Given the description of an element on the screen output the (x, y) to click on. 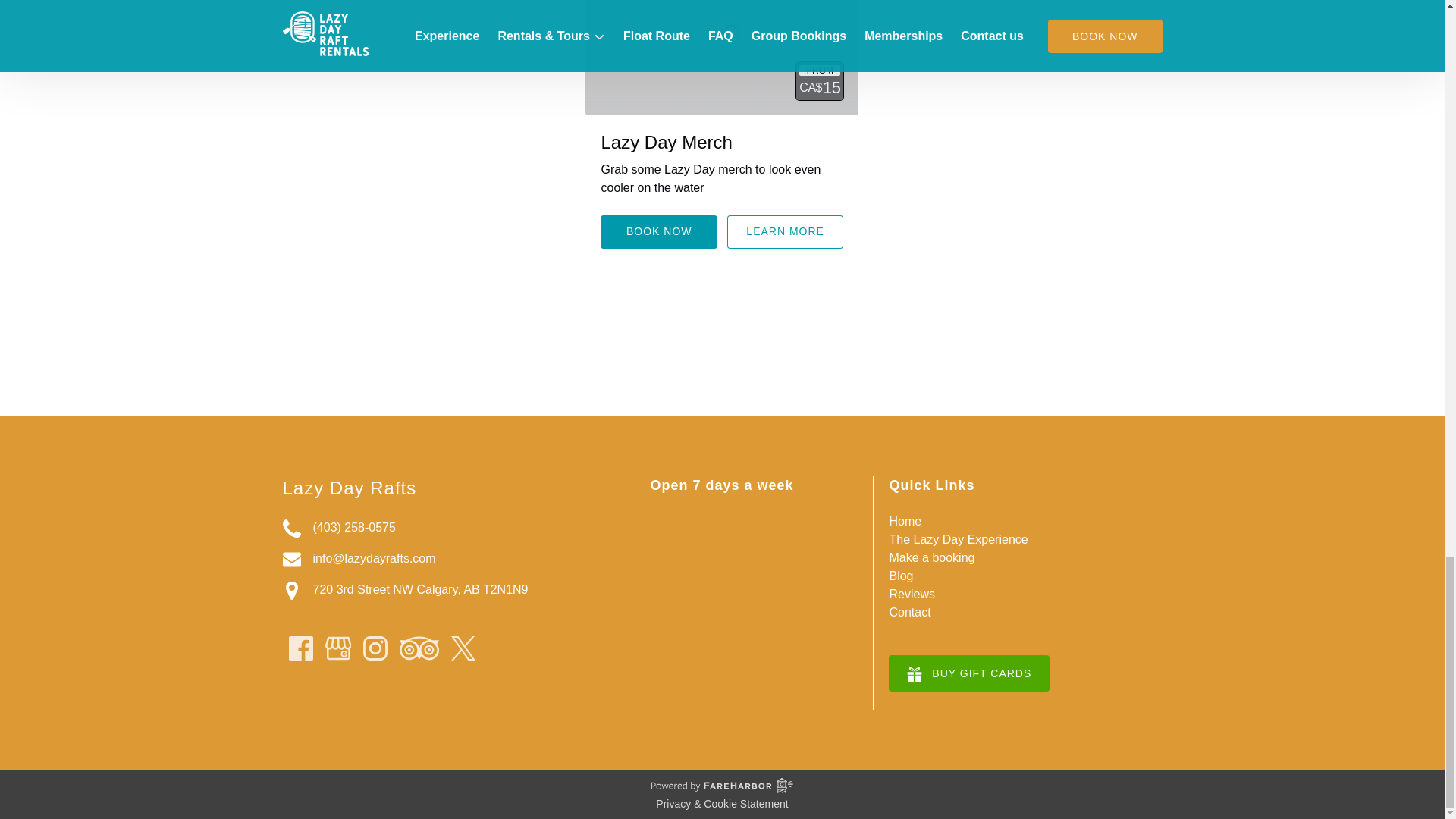
GIFT (914, 674)
Phone (290, 528)
Map Marker (290, 590)
Envelope (290, 559)
